Given the description of an element on the screen output the (x, y) to click on. 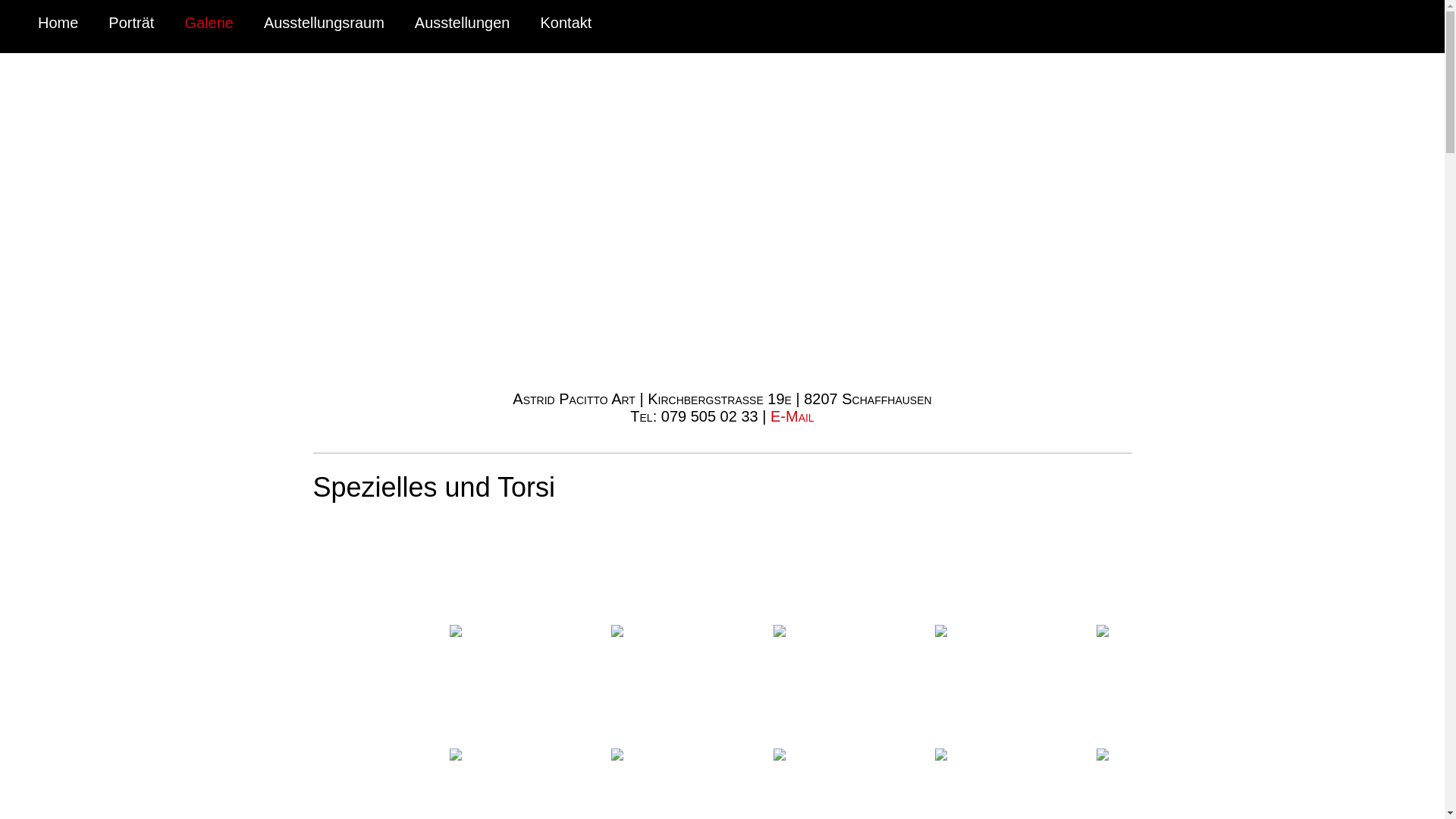
1 Element type: hover (722, 242)
E-Mail Element type: text (792, 415)
SeitenTop Element type: hover (1420, 749)
